Given the description of an element on the screen output the (x, y) to click on. 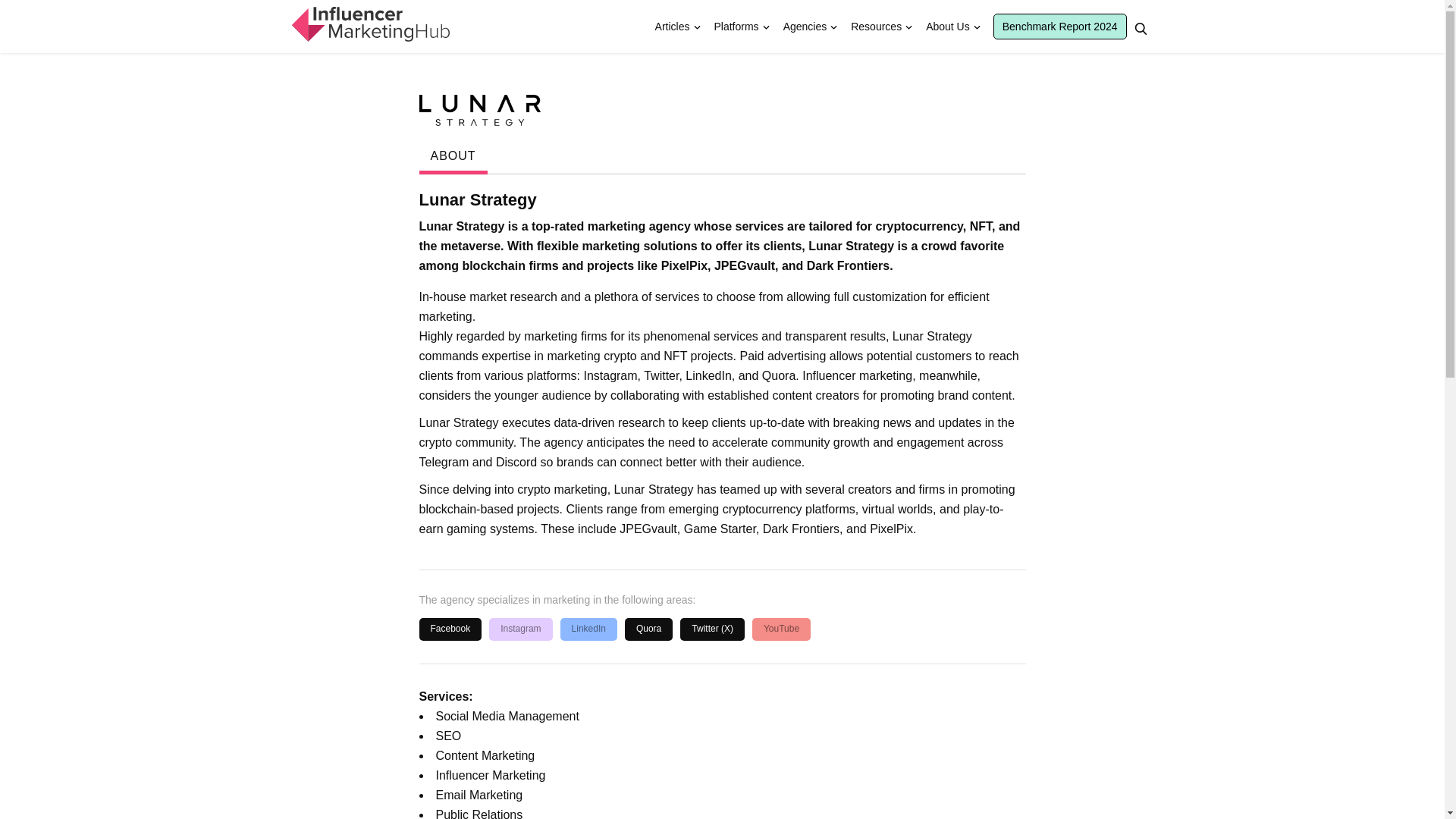
Articles (672, 26)
Platforms (736, 26)
Influencer Marketing Hub (368, 24)
Resources (876, 26)
Agencies (805, 26)
